Given the description of an element on the screen output the (x, y) to click on. 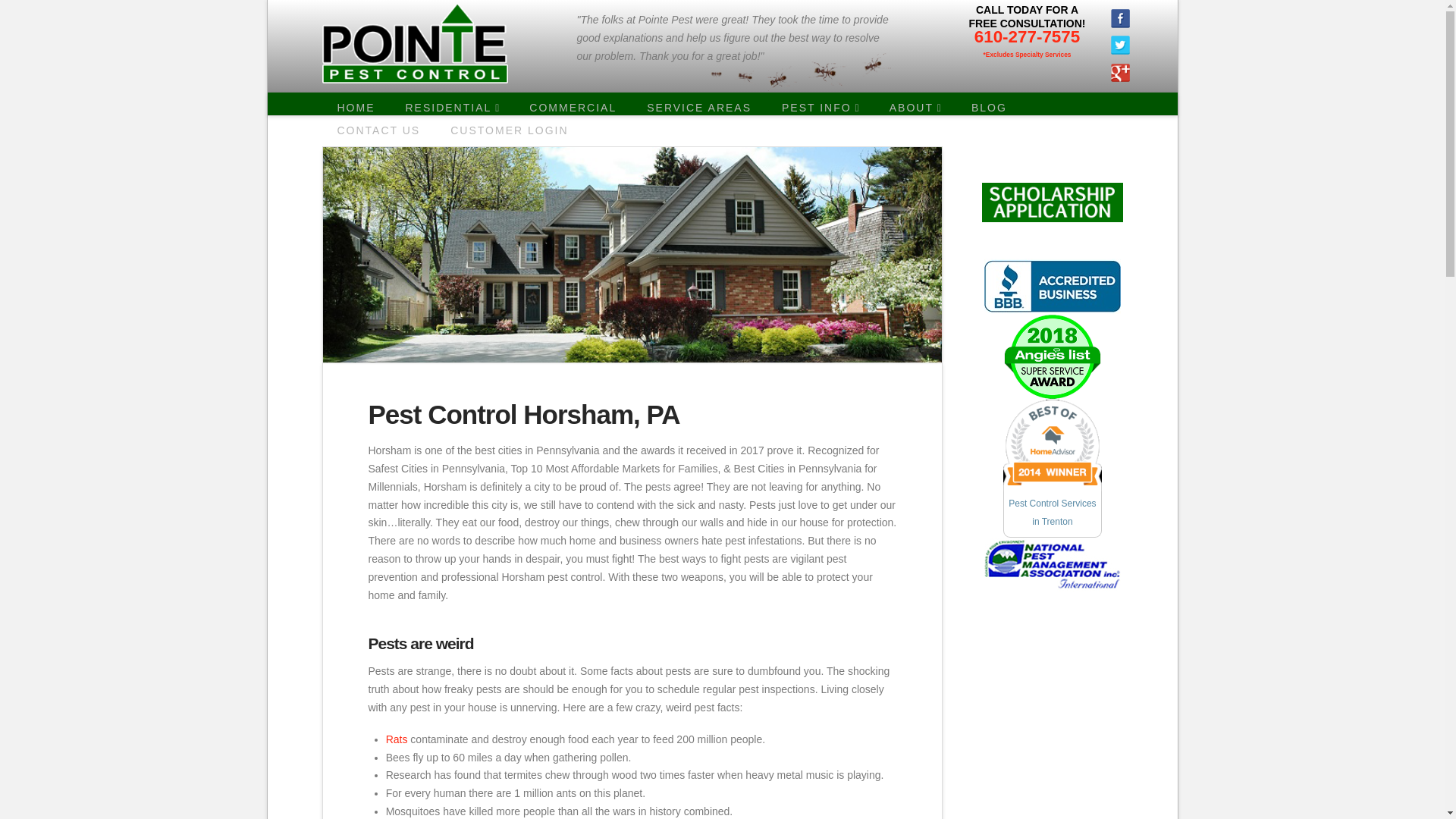
COMMERCIAL (572, 108)
PEST INFO (821, 108)
HOME (355, 108)
610-277-7575 (1027, 36)
RESIDENTIAL (451, 108)
ABOUT (915, 108)
SERVICE AREAS (699, 108)
